Given the description of an element on the screen output the (x, y) to click on. 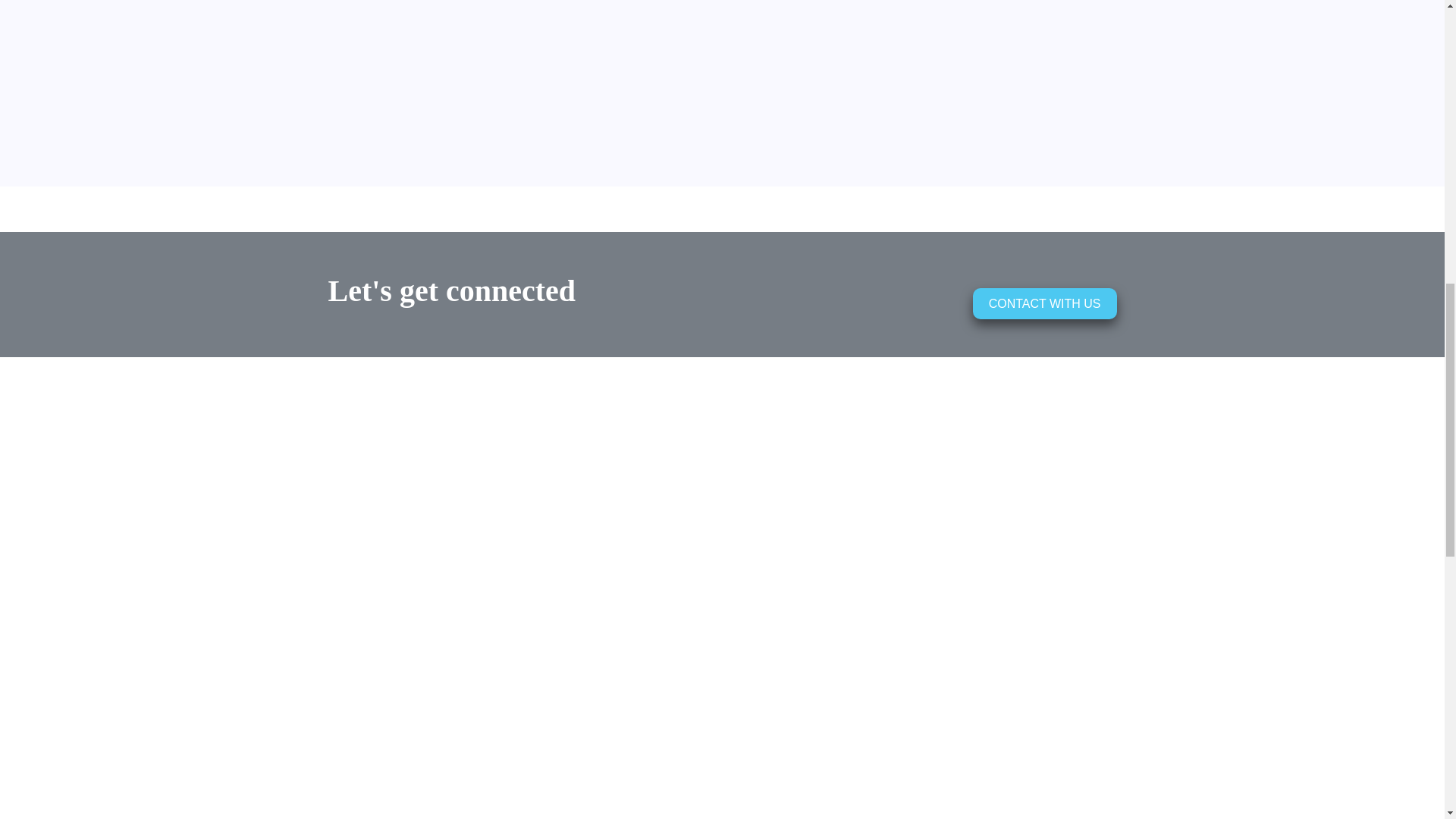
CONTACT WITH US (1044, 303)
